Given the description of an element on the screen output the (x, y) to click on. 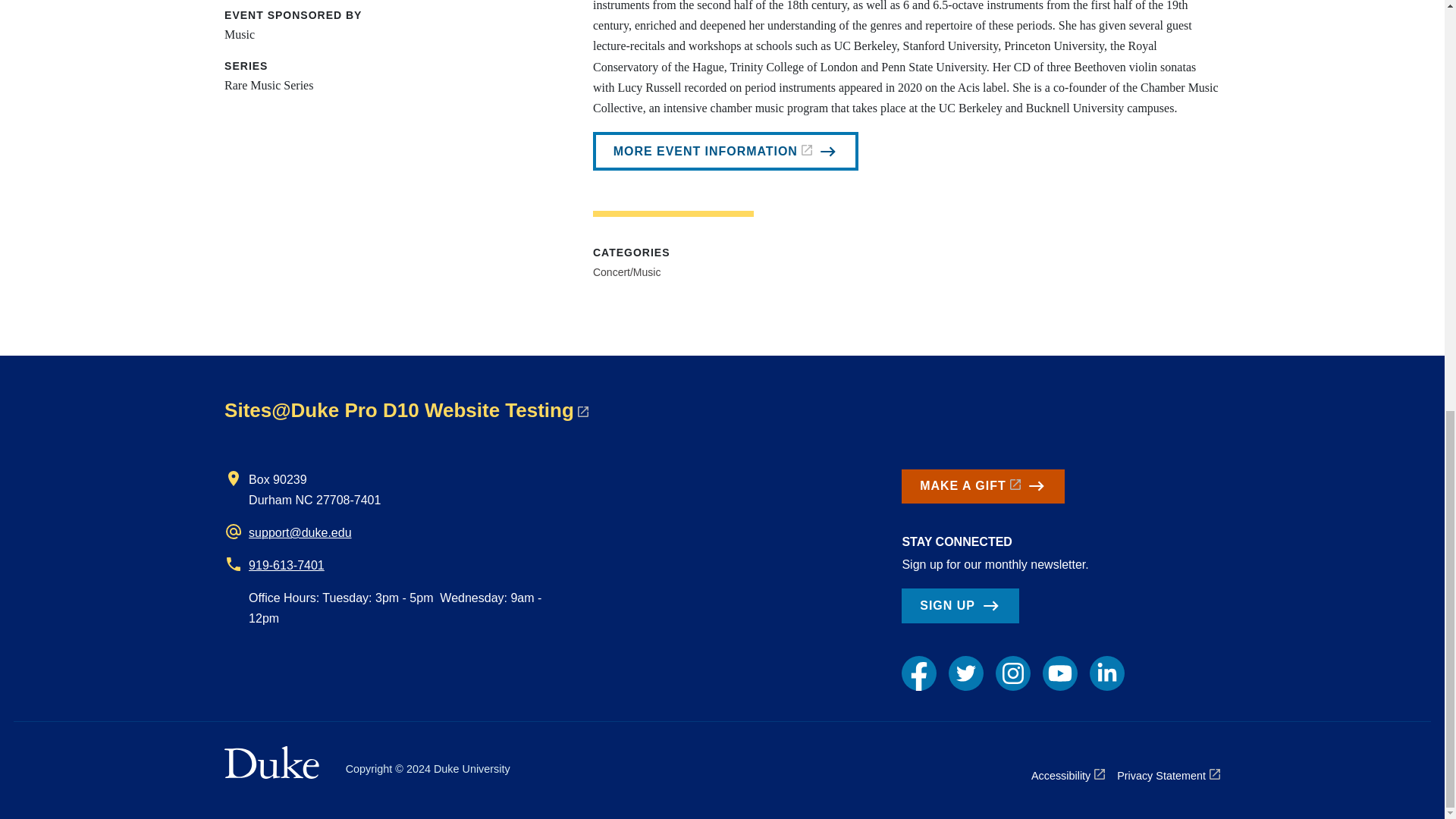
LinkedIn link (1106, 673)
MORE EVENT INFORMATION (725, 151)
MAKE A GIFT (982, 486)
Accessibility (1067, 775)
Twitter link (966, 673)
919-613-7401 (286, 564)
Instagram link (1012, 673)
Facebook link (918, 673)
Privacy Statement (1168, 775)
YouTube link (1059, 673)
